Given the description of an element on the screen output the (x, y) to click on. 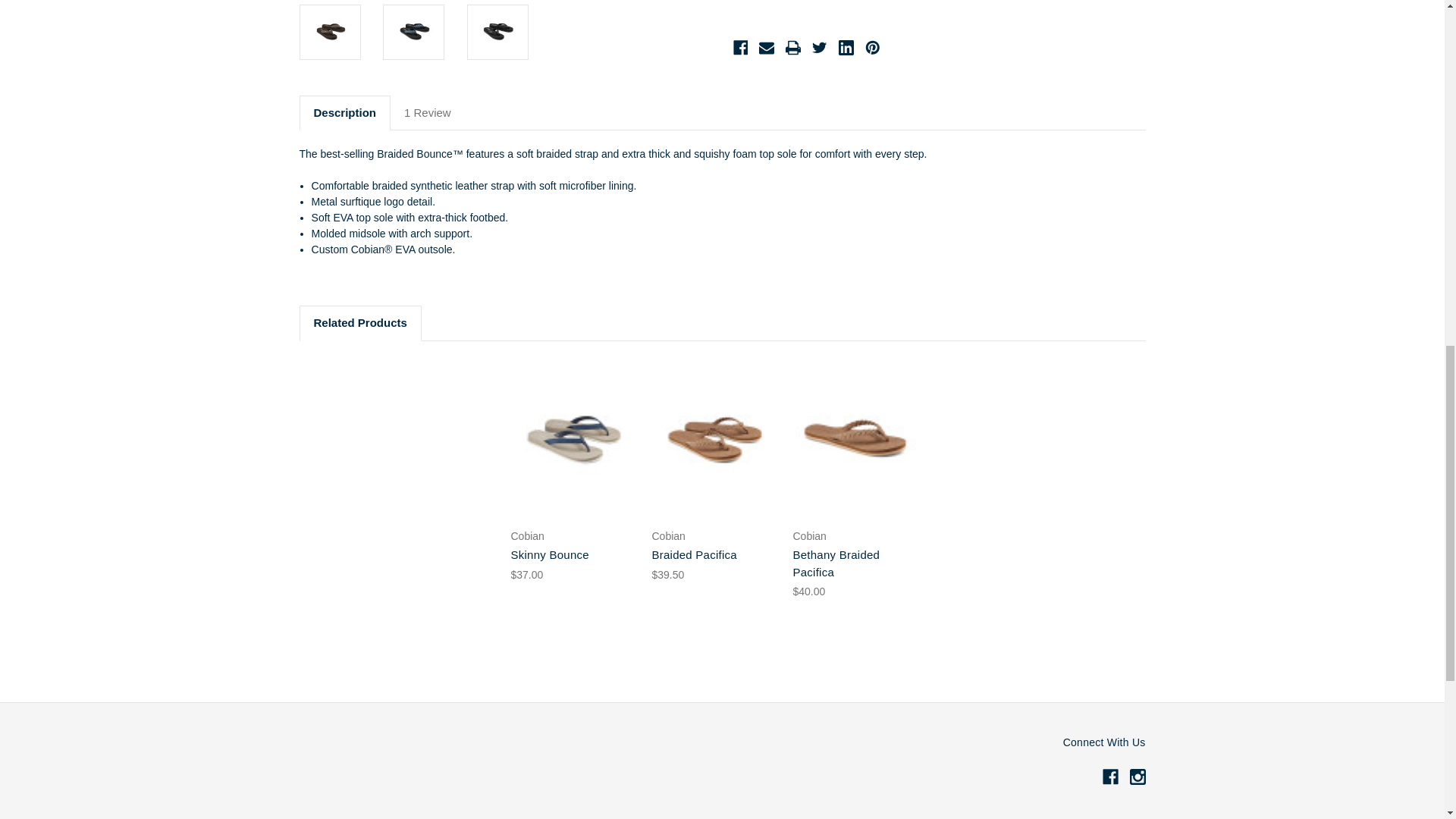
Cobian Footwear for Women in Skinny Bounce in Navy (572, 438)
Cobian Footwear Braided Pacifica for Women in Tan  (713, 438)
